Given the description of an element on the screen output the (x, y) to click on. 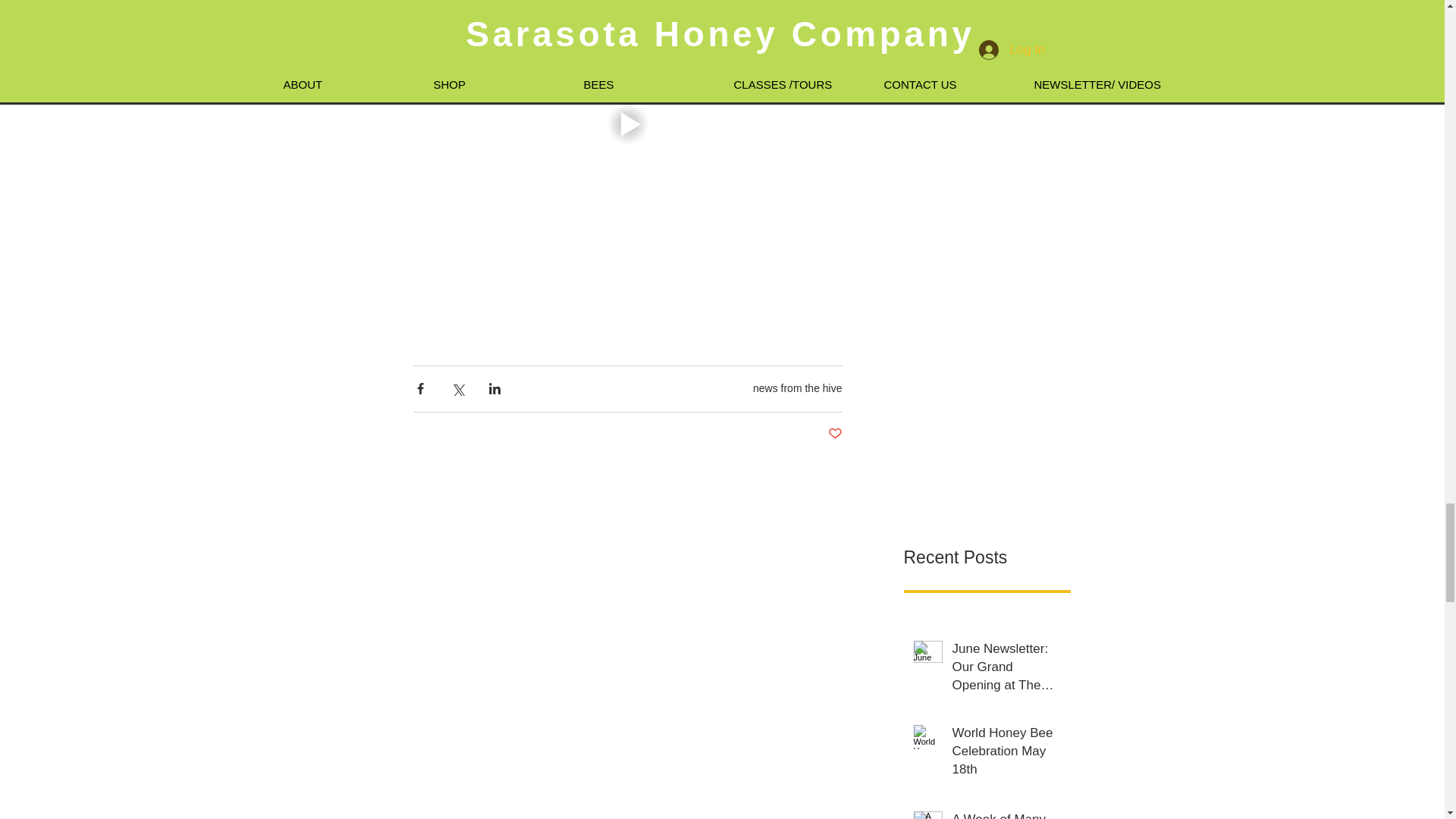
news from the hive (797, 387)
Post not marked as liked (835, 433)
World Honey Bee Celebration May 18th (1006, 753)
